Given the description of an element on the screen output the (x, y) to click on. 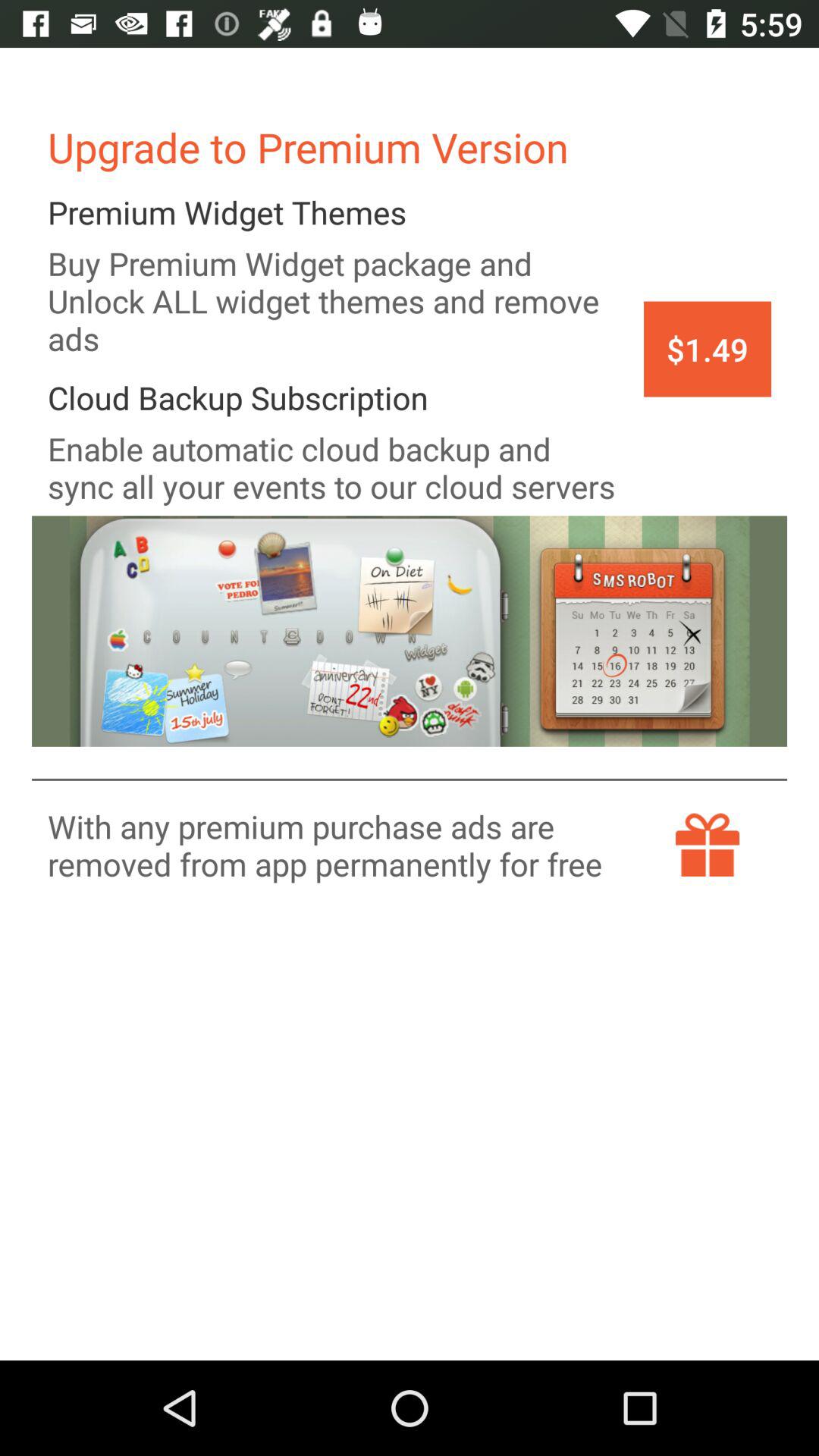
select the item below the upgrade to premium item (707, 348)
